Given the description of an element on the screen output the (x, y) to click on. 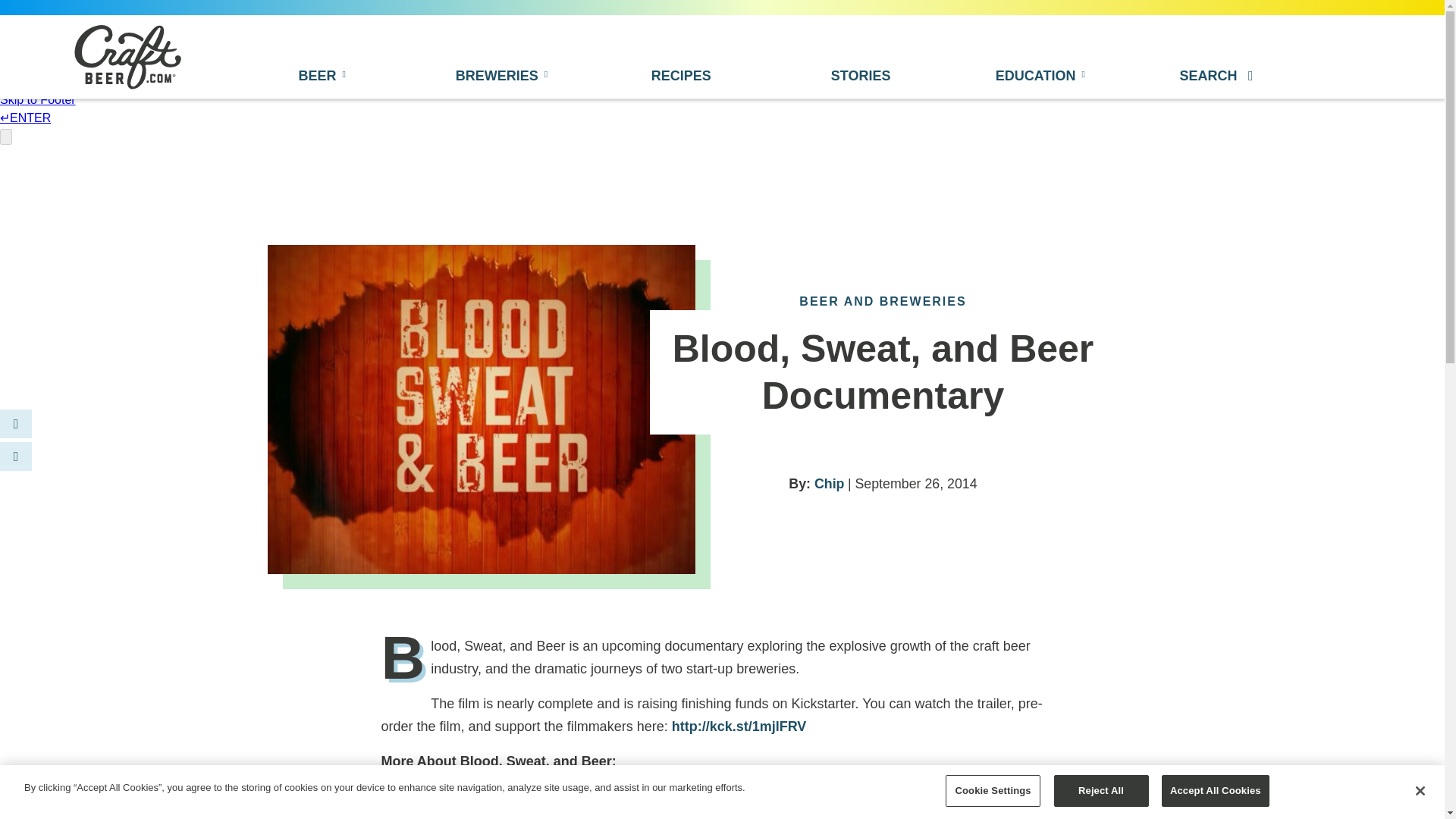
RECIPES (681, 75)
CraftBeer.com (127, 55)
STORIES (860, 75)
EDUCATION (1039, 75)
BREWERIES (501, 75)
BEER (318, 72)
